Given the description of an element on the screen output the (x, y) to click on. 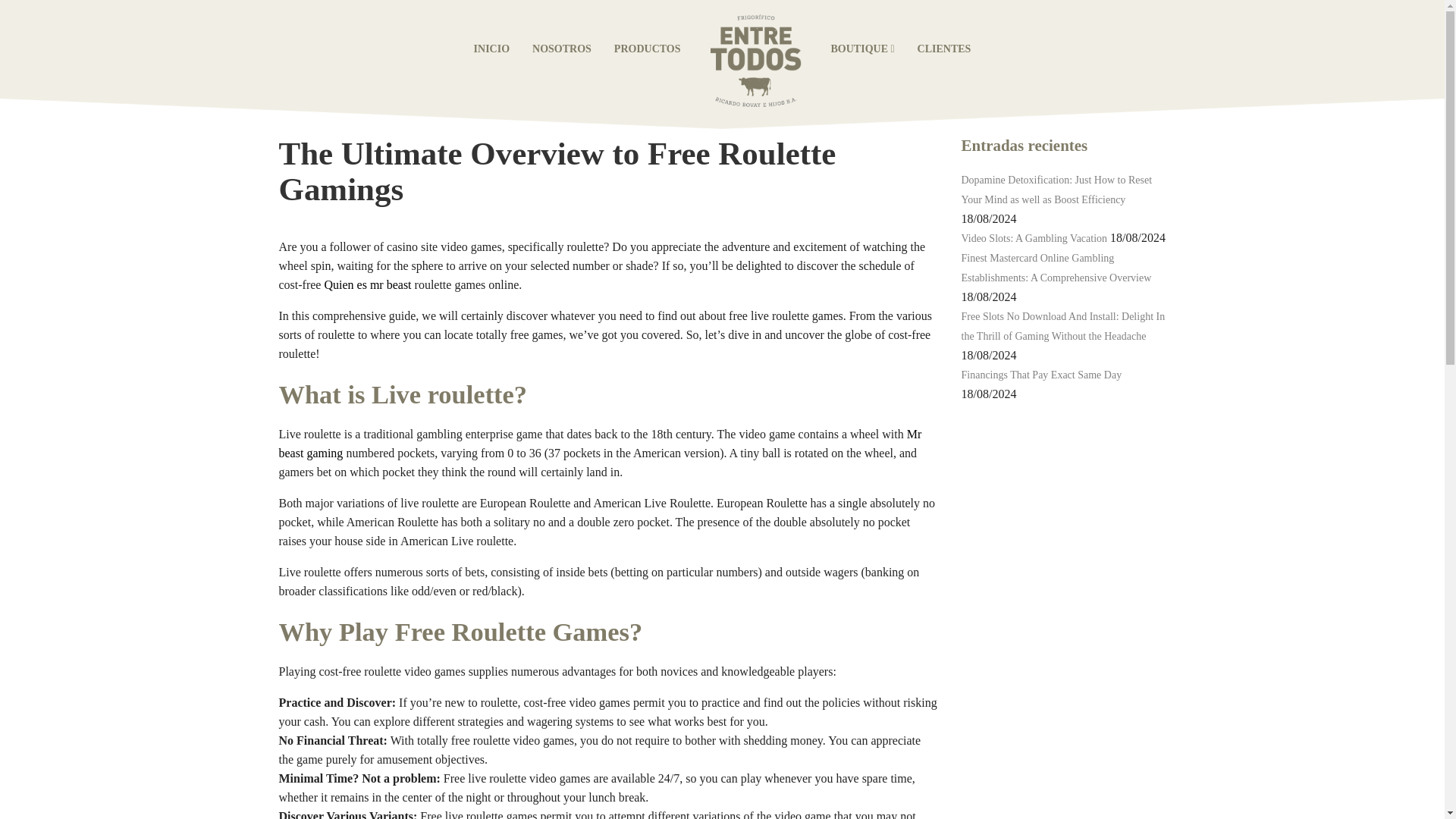
NOSOTROS (561, 49)
Video Slots: A Gambling Vacation (1034, 238)
Quien es mr beast (366, 284)
Mr beast gaming (600, 443)
PRODUCTOS (647, 49)
CLIENTES (943, 49)
Financings That Pay Exact Same Day (1041, 374)
